Given the description of an element on the screen output the (x, y) to click on. 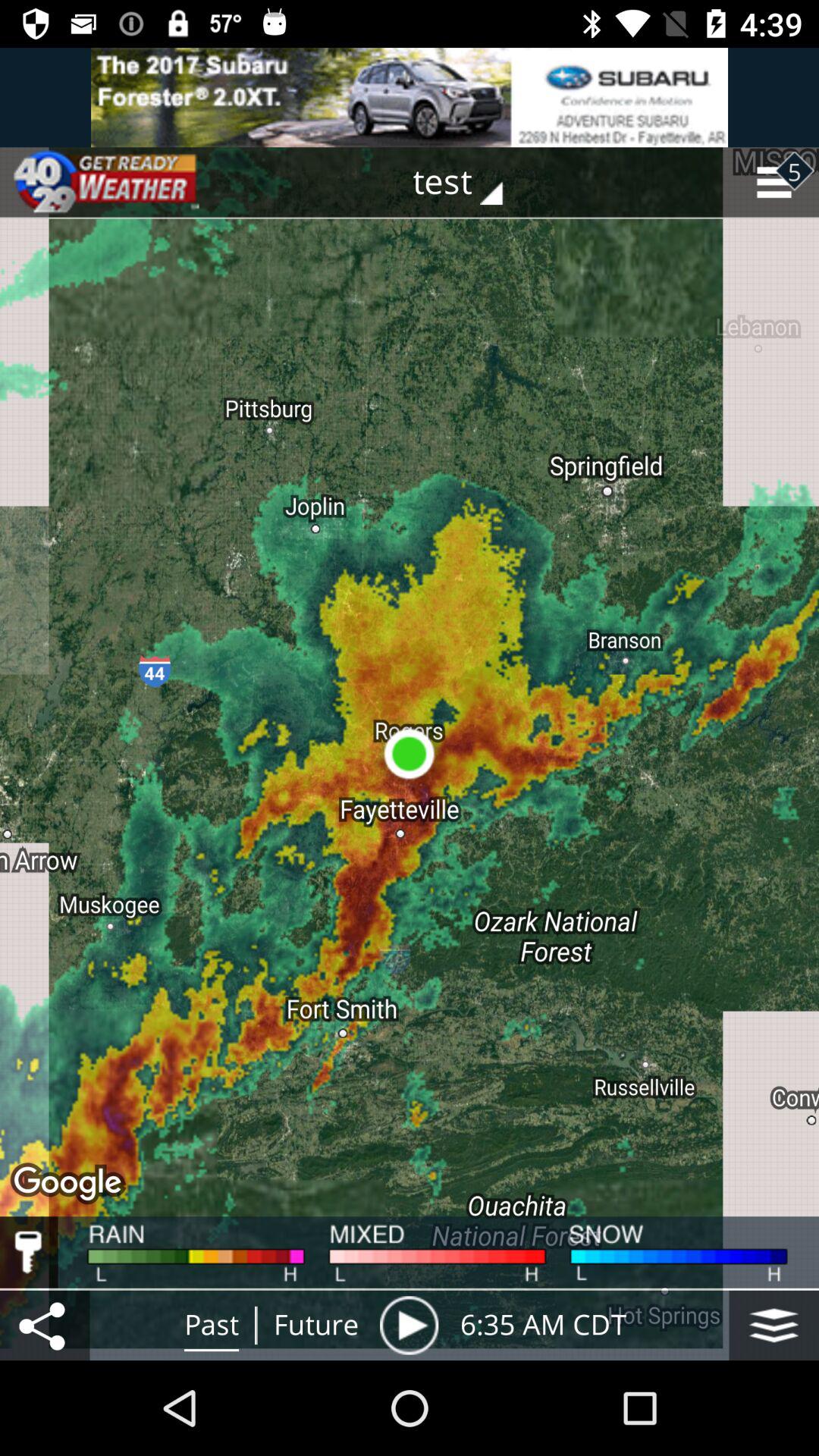
go to paly (409, 1325)
